Given the description of an element on the screen output the (x, y) to click on. 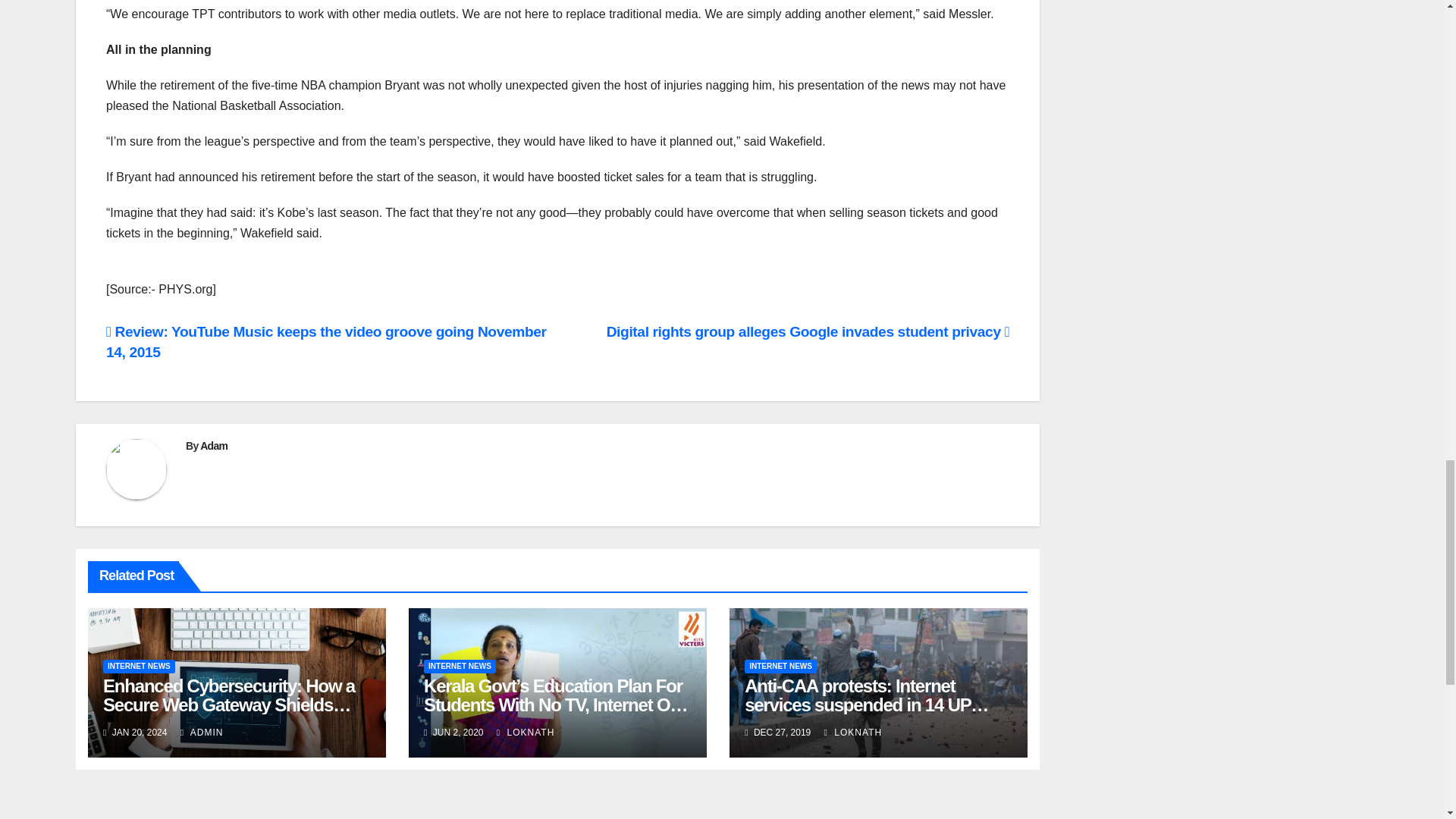
Adam (213, 445)
LOKNATH (525, 732)
ADMIN (202, 732)
INTERNET NEWS (138, 666)
INTERNET NEWS (459, 666)
Digital rights group alleges Google invades student privacy (808, 331)
INTERNET NEWS (780, 666)
